Given the description of an element on the screen output the (x, y) to click on. 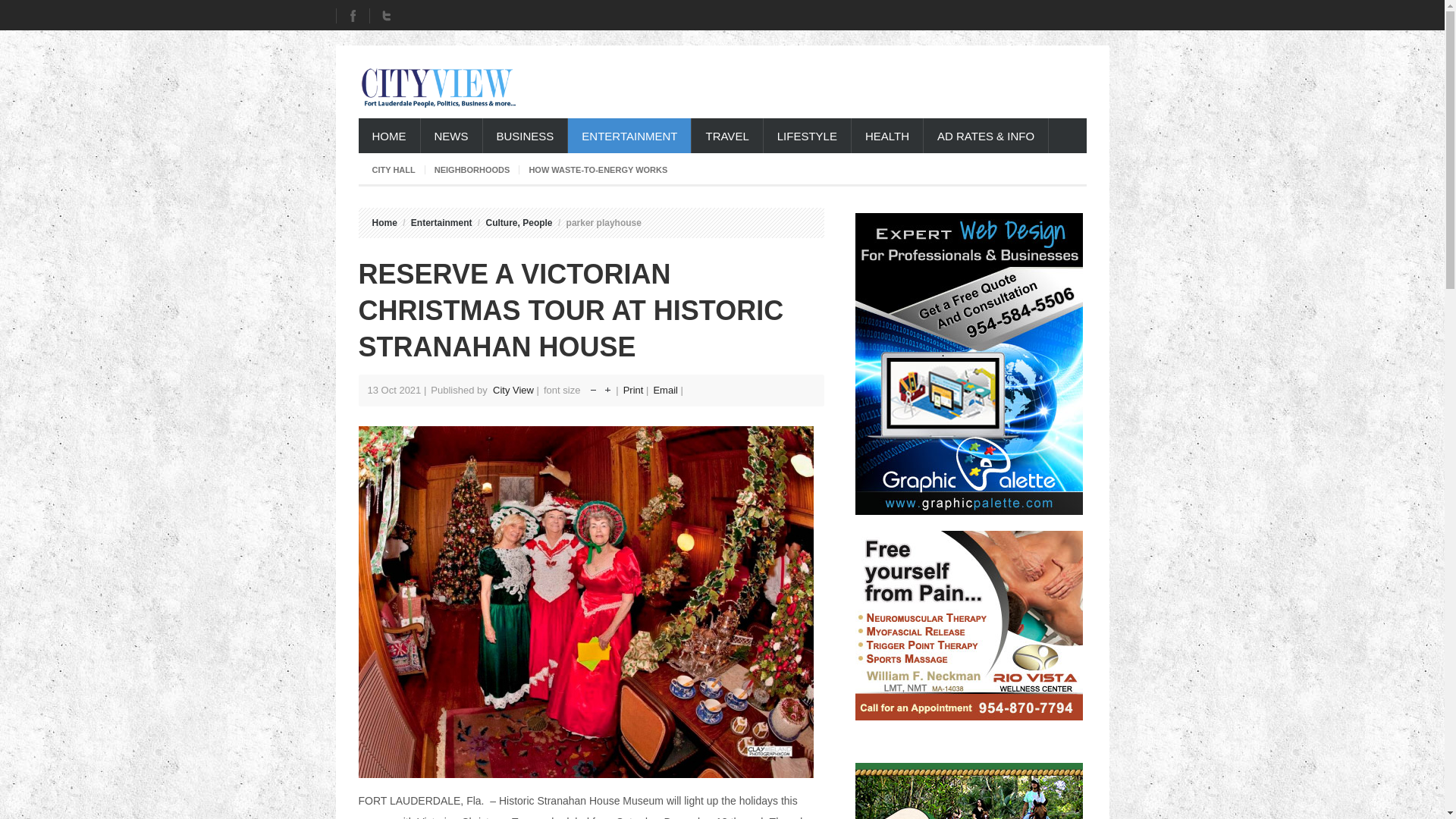
increase font size (607, 386)
Home (383, 222)
TRAVEL (726, 135)
HEALTH (887, 135)
BUSINESS (524, 135)
NEWS (450, 135)
Print (634, 389)
LIFESTYLE (806, 135)
HOME (388, 135)
NEIGHBORHOODS (472, 169)
decrease font size (593, 386)
ENTERTAINMENT (628, 135)
Entertainment (440, 222)
HOW WASTE-TO-ENERGY WORKS (597, 169)
